Given the description of an element on the screen output the (x, y) to click on. 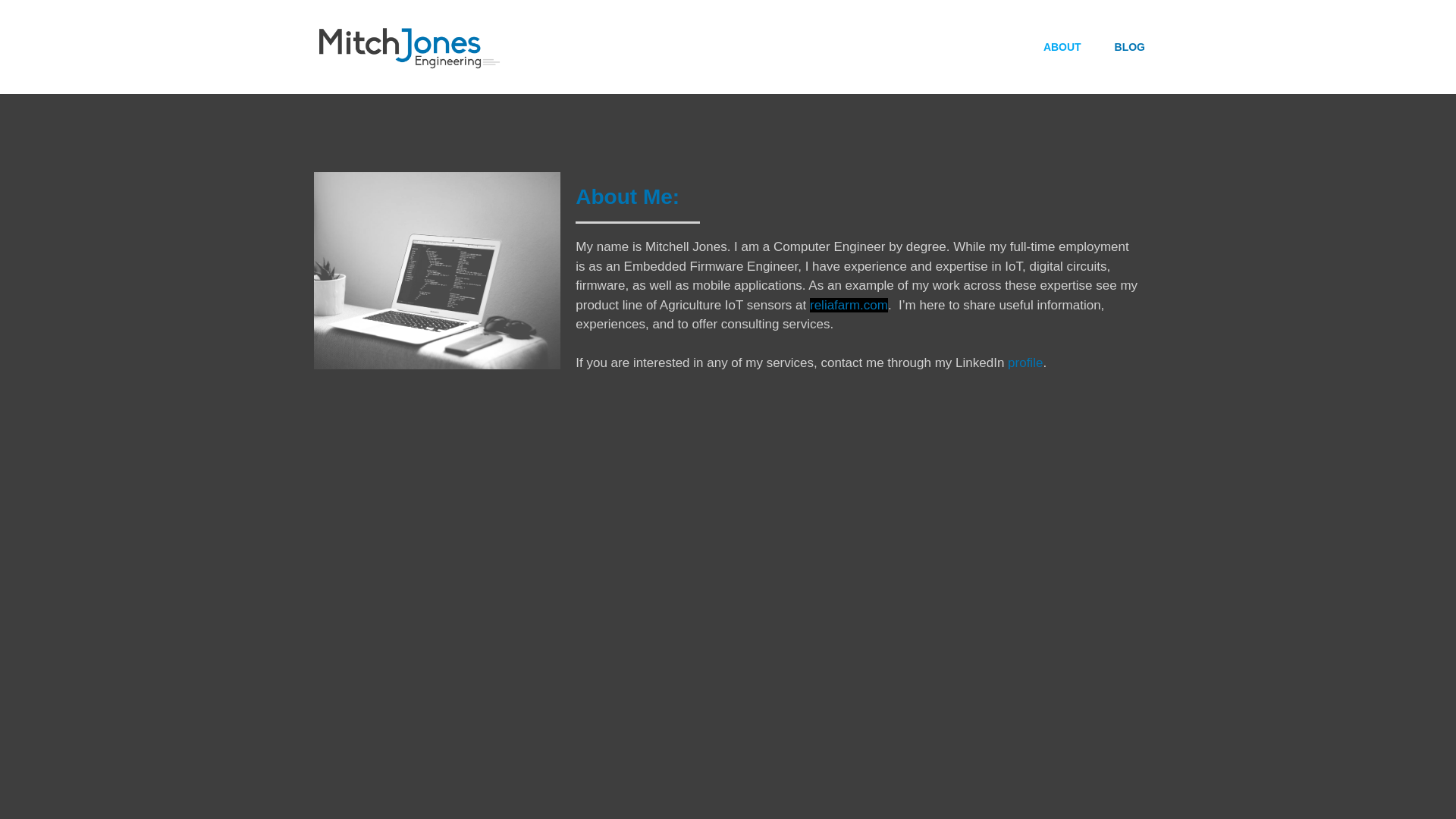
profile (1024, 362)
ABOUT (1061, 46)
reliafarm.com (848, 305)
